Given the description of an element on the screen output the (x, y) to click on. 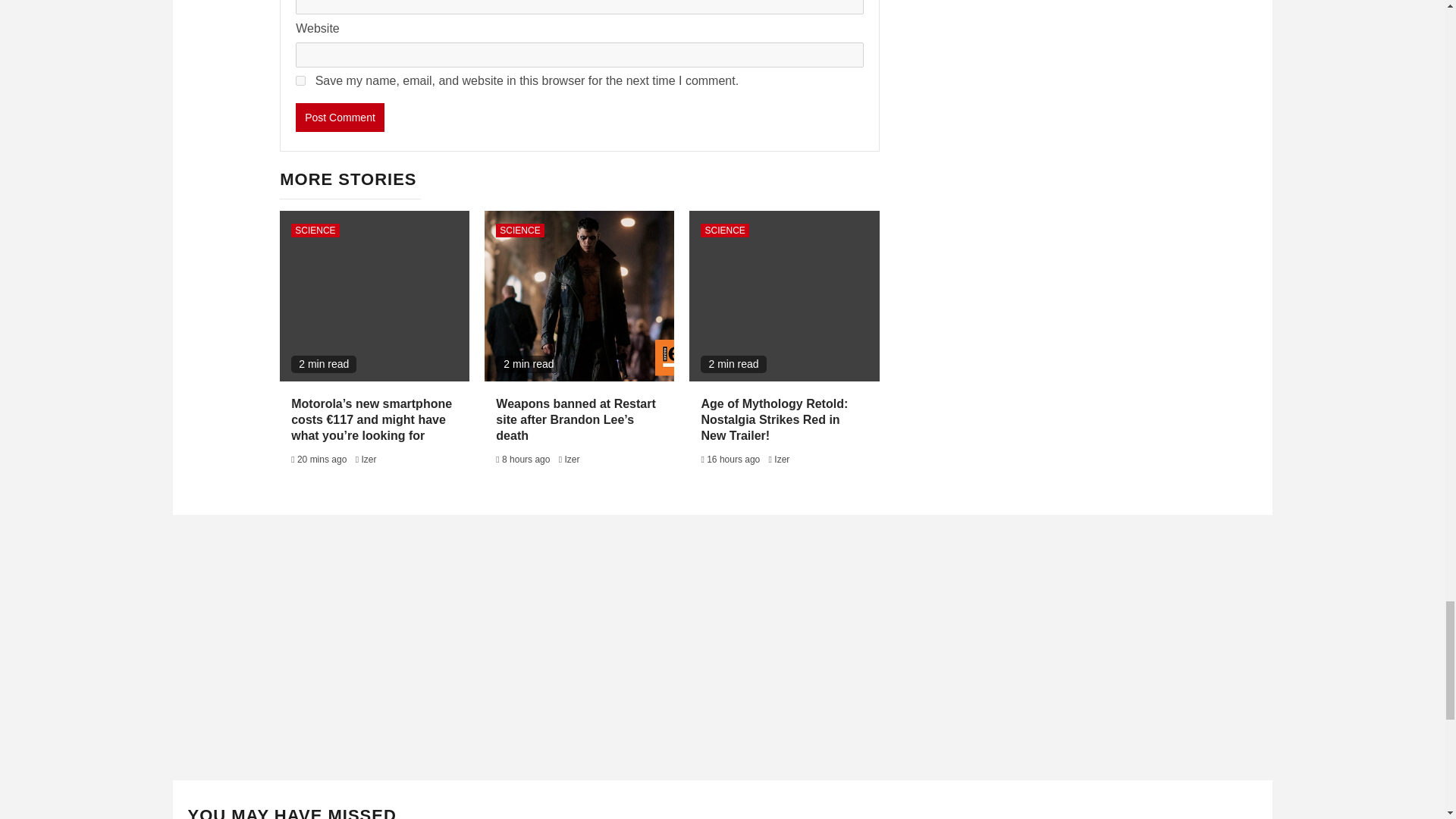
Izer (781, 459)
SCIENCE (519, 230)
Post Comment (339, 117)
yes (300, 80)
Post Comment (339, 117)
Izer (368, 459)
Izer (571, 459)
SCIENCE (724, 230)
SCIENCE (315, 230)
